Given the description of an element on the screen output the (x, y) to click on. 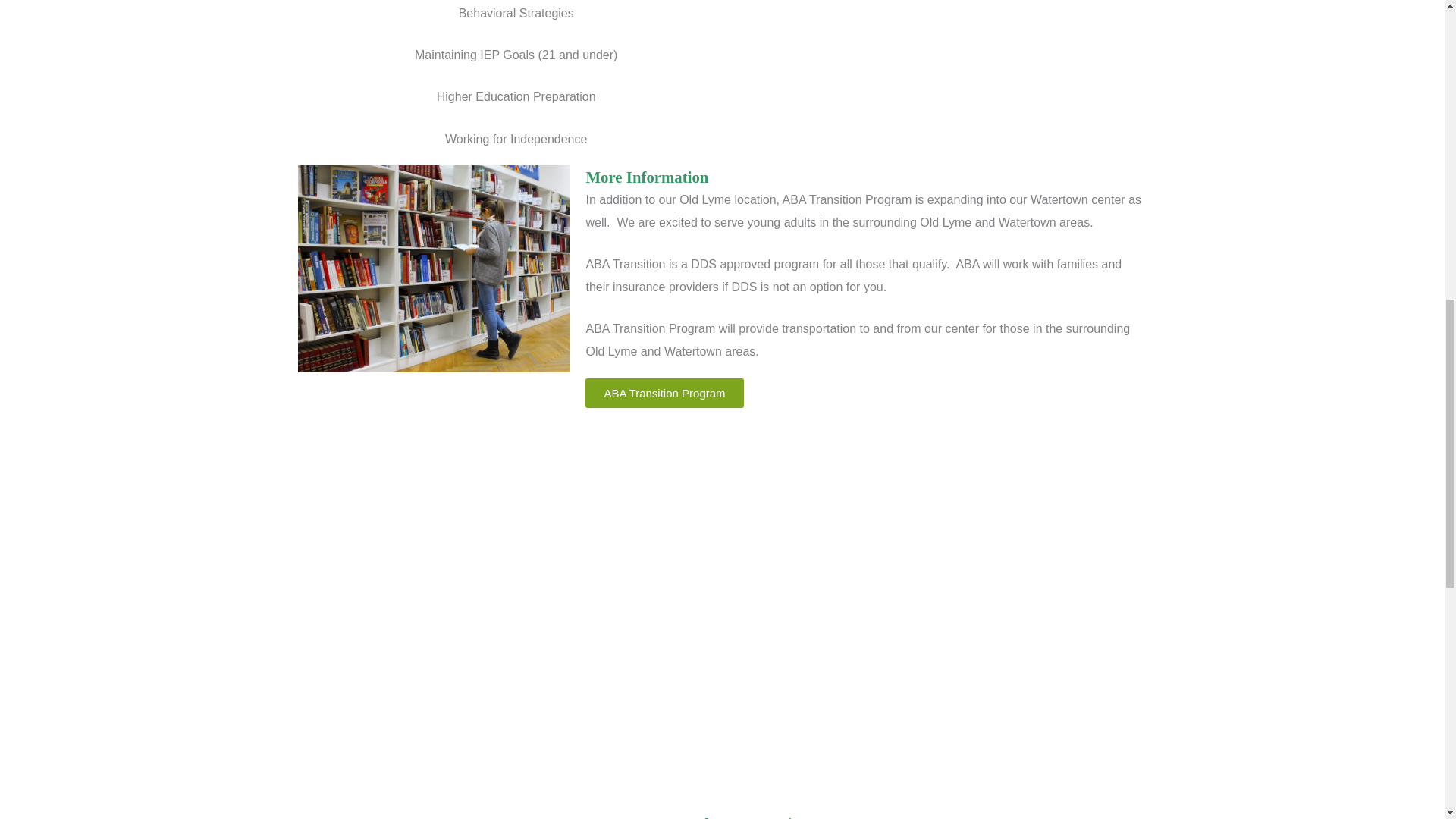
ABA Transition Program (663, 392)
